Given the description of an element on the screen output the (x, y) to click on. 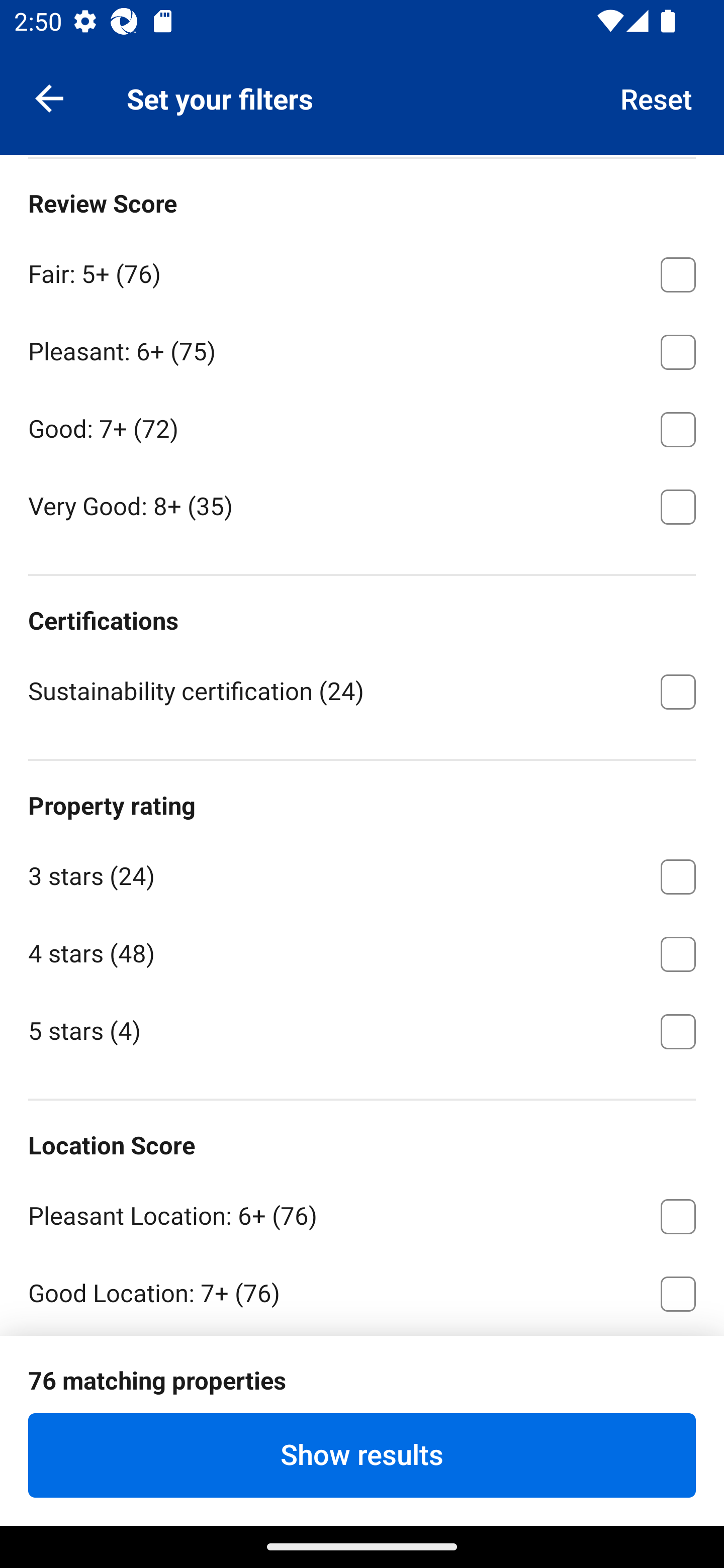
Navigate up (49, 97)
Reset (656, 97)
Fair: 5+ ⁦(76) (361, 271)
Pleasant: 6+ ⁦(75) (361, 348)
Good: 7+ ⁦(72) (361, 425)
Very Good: 8+ ⁦(35) (361, 504)
Sustainability certification ⁦(24) (361, 689)
3 stars ⁦(24) (361, 873)
4 stars ⁦(48) (361, 950)
5 stars ⁦(4) (361, 1029)
Pleasant Location: 6+ ⁦(76) (361, 1212)
Good Location: 7+ ⁦(76) (361, 1290)
Show results (361, 1454)
